Given the description of an element on the screen output the (x, y) to click on. 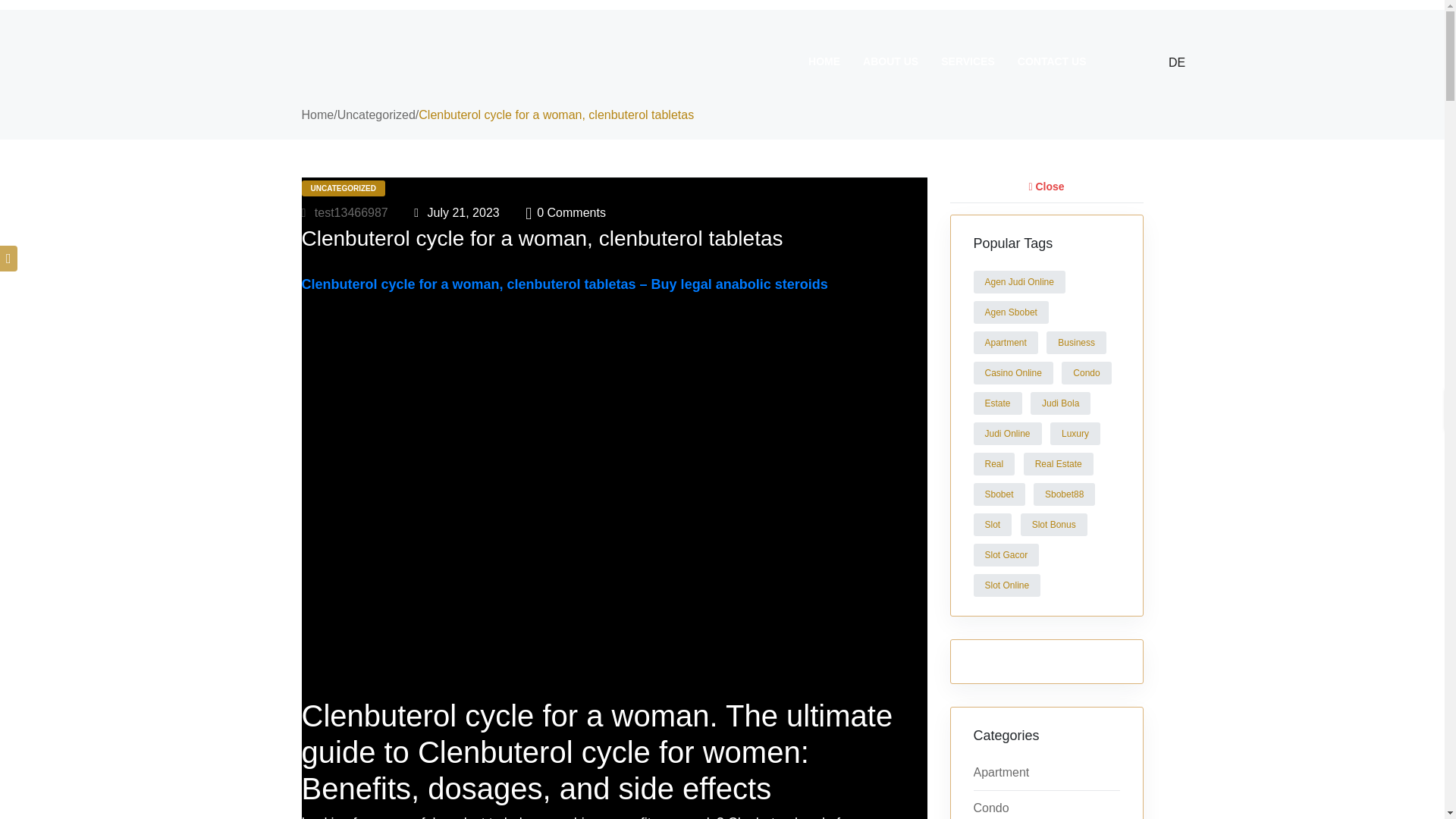
CONTACT US (1051, 61)
German (1165, 62)
ABOUT US (890, 61)
German (1156, 58)
Home (317, 114)
SERVICES (968, 61)
UNCATEGORIZED (343, 188)
DE (1165, 62)
HOME (823, 61)
test13466987 (344, 212)
